Given the description of an element on the screen output the (x, y) to click on. 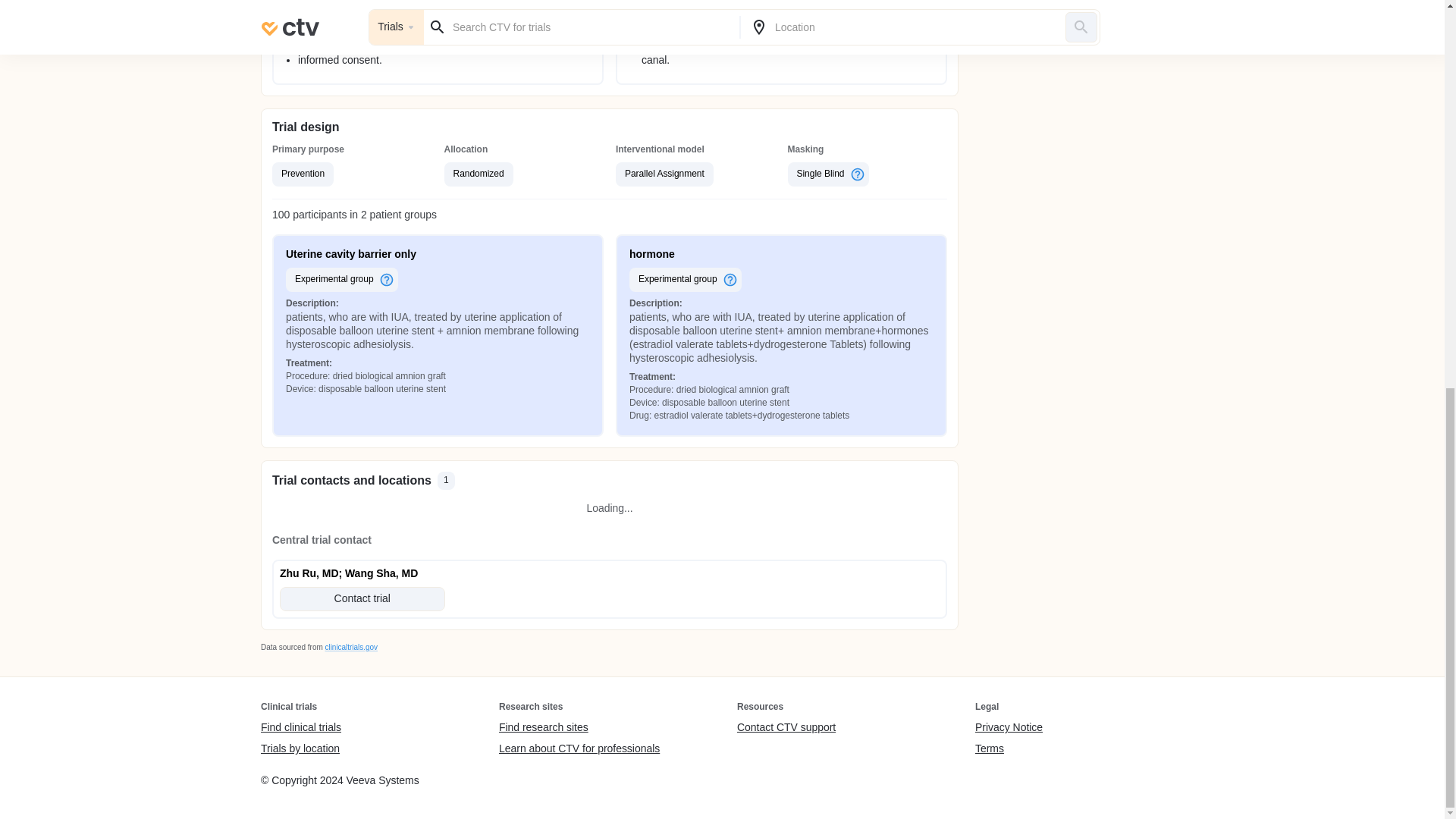
Find clinical trials (300, 727)
Trials by location (300, 748)
Contact CTV support (785, 727)
Contact trial (362, 598)
Terms (1008, 748)
Learn about CTV for professionals (579, 748)
clinicaltrials.gov (350, 646)
Privacy Notice (1008, 727)
Find research sites (579, 727)
